Given the description of an element on the screen output the (x, y) to click on. 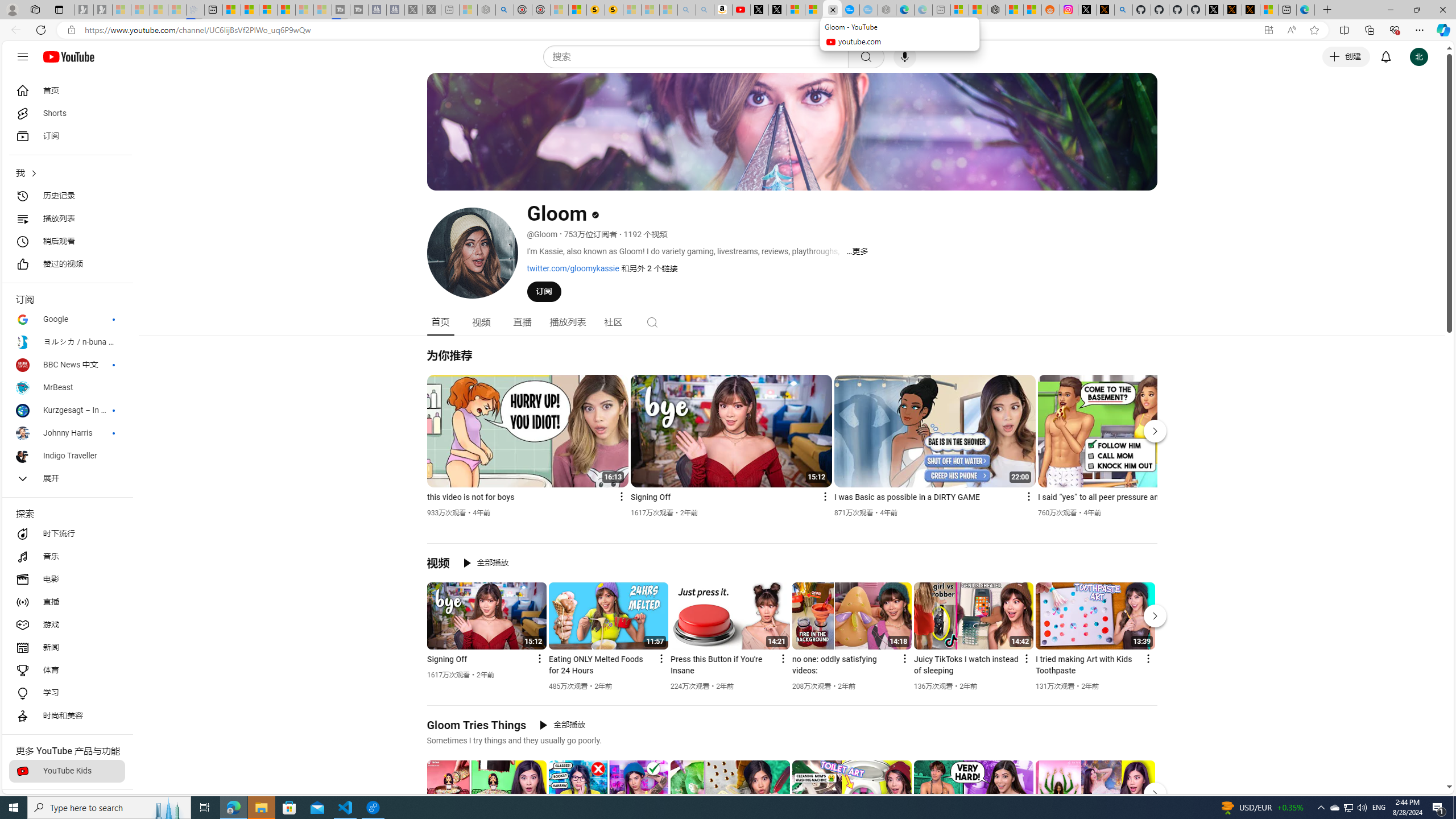
X (778, 9)
Close (1442, 9)
Microsoft Start - Sleeping (304, 9)
twitter.com/gloomykassie (572, 268)
Gloom Tries Things (476, 725)
App bar (728, 29)
